Given the description of an element on the screen output the (x, y) to click on. 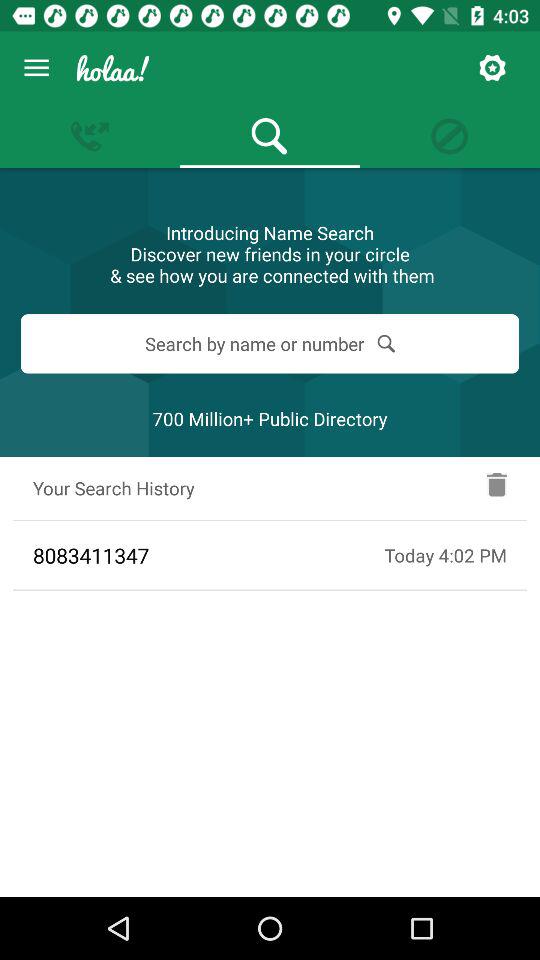
click to delete the search history (497, 487)
